Given the description of an element on the screen output the (x, y) to click on. 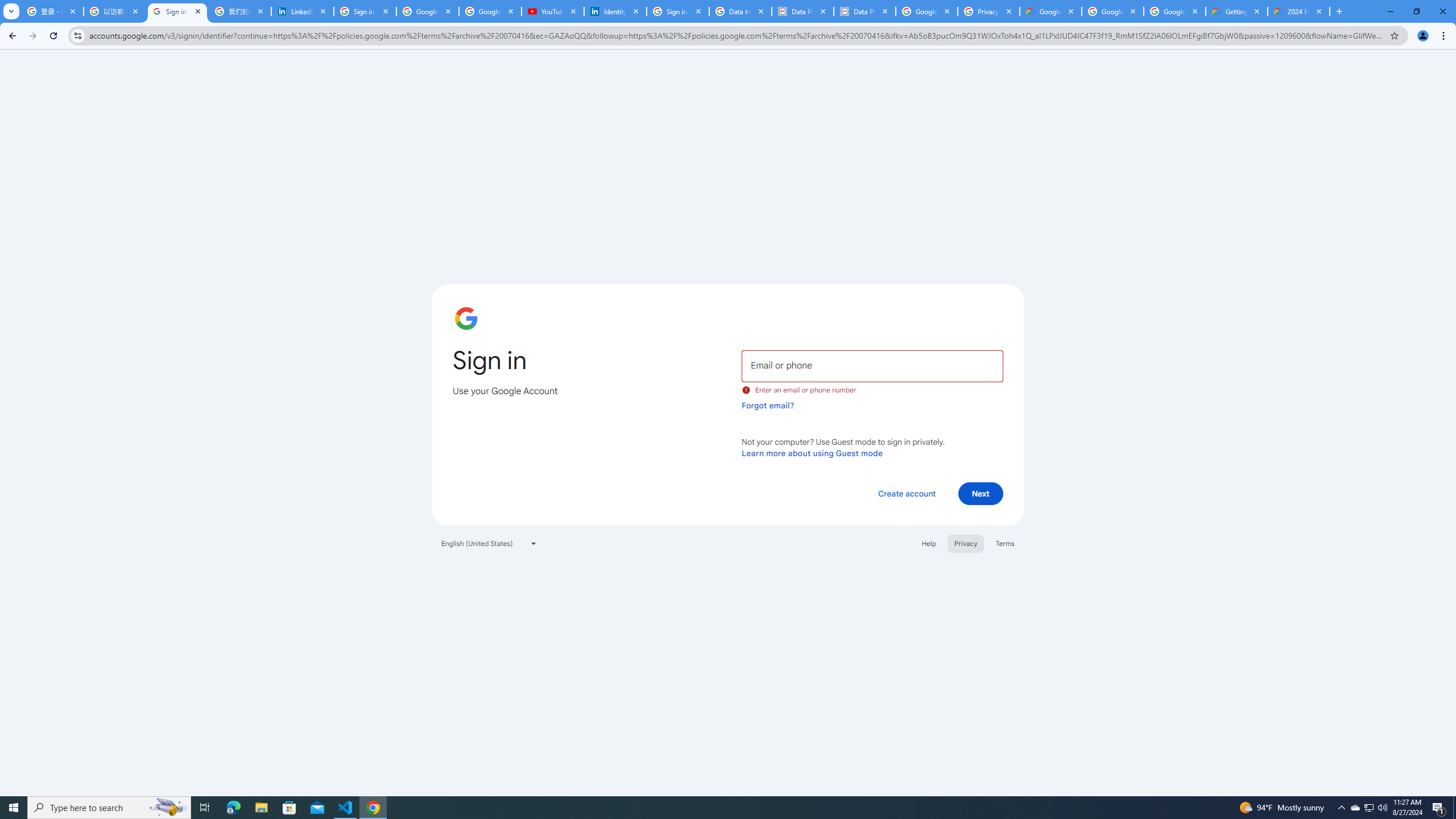
Google Workspace - Specific Terms (1174, 11)
Sign in - Google Accounts (365, 11)
LinkedIn Privacy Policy (302, 11)
Google Workspace - Specific Terms (1111, 11)
Email or phone (871, 365)
Sign in - Google Accounts (177, 11)
English (United States) (489, 542)
Google Cloud Terms Directory | Google Cloud (1050, 11)
Learn more about using Guest mode (812, 452)
